Given the description of an element on the screen output the (x, y) to click on. 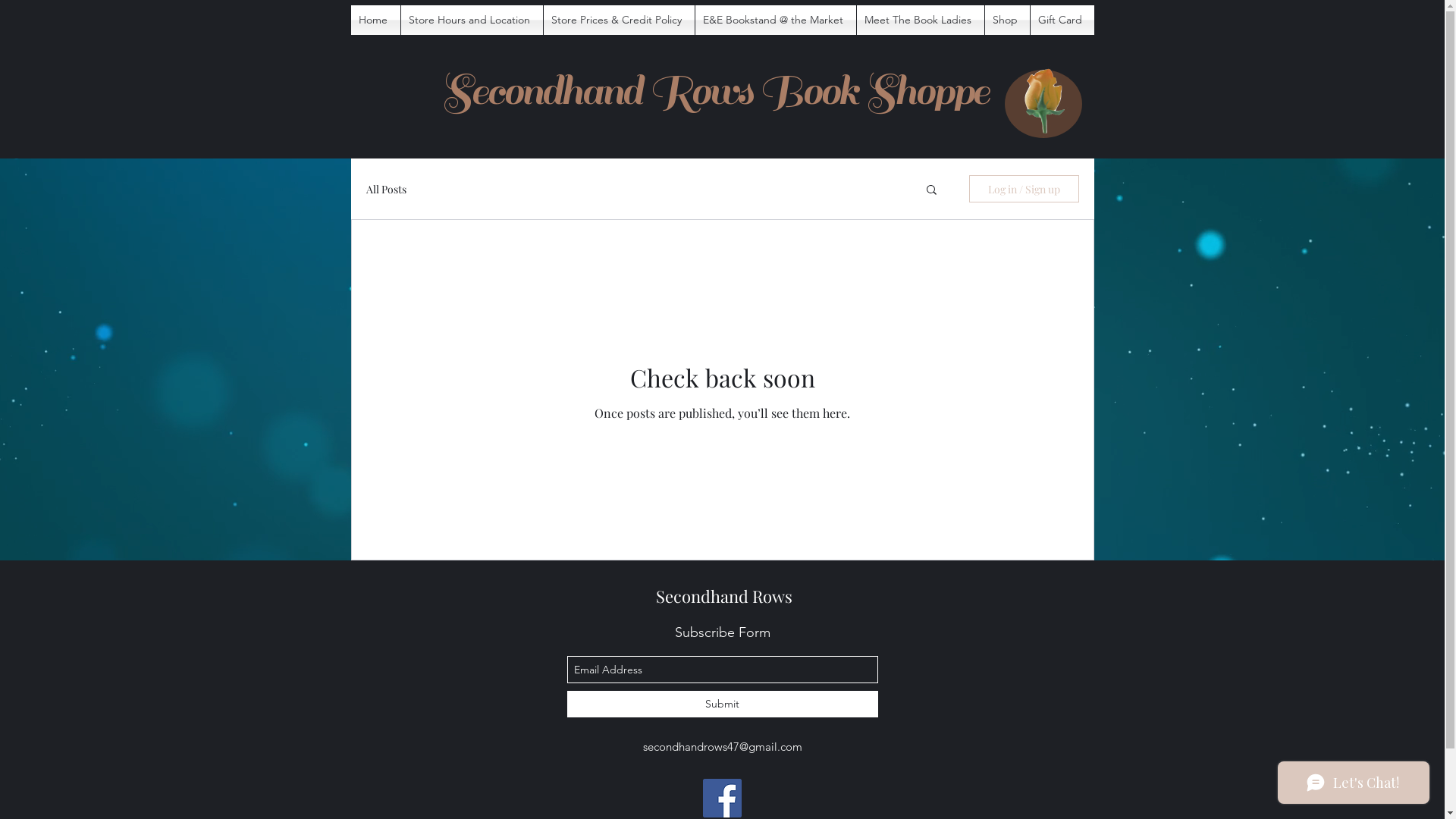
All Posts Element type: text (385, 189)
Secondhand Rows Element type: text (723, 595)
E&E Bookstand @ the Market Element type: text (774, 19)
Store Hours and Location Element type: text (471, 19)
Gift Card Element type: text (1061, 19)
Log in / Sign up Element type: text (1024, 188)
Home Element type: text (374, 19)
secondhandrows47@gmail.com Element type: text (722, 746)
Submit Element type: text (722, 703)
Store Prices & Credit Policy Element type: text (617, 19)
Meet The Book Ladies Element type: text (920, 19)
Embedded Content Element type: hover (395, 65)
Shop Element type: text (1006, 19)
